Given the description of an element on the screen output the (x, y) to click on. 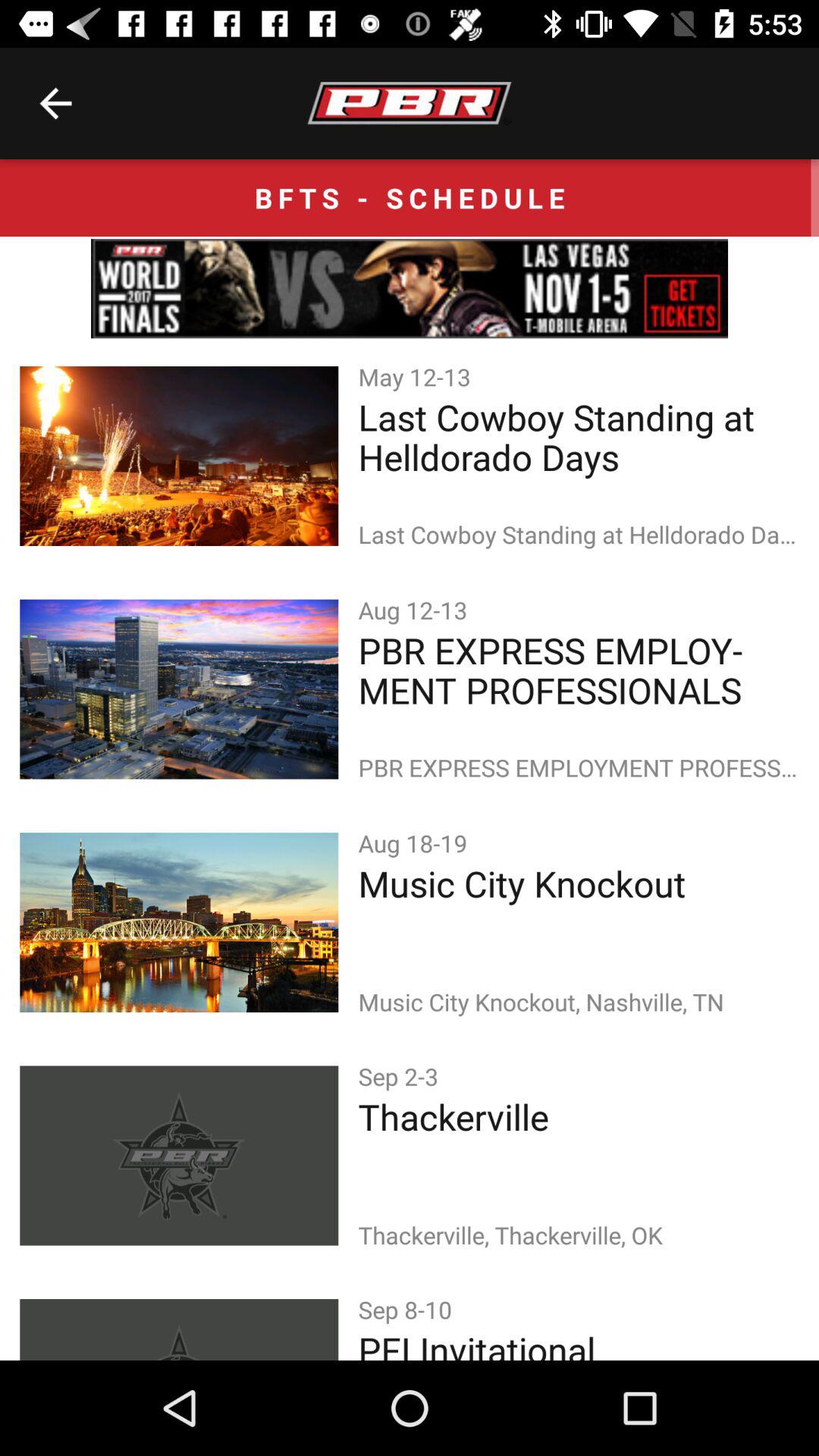
jump until the bfts - schedule icon (409, 197)
